Given the description of an element on the screen output the (x, y) to click on. 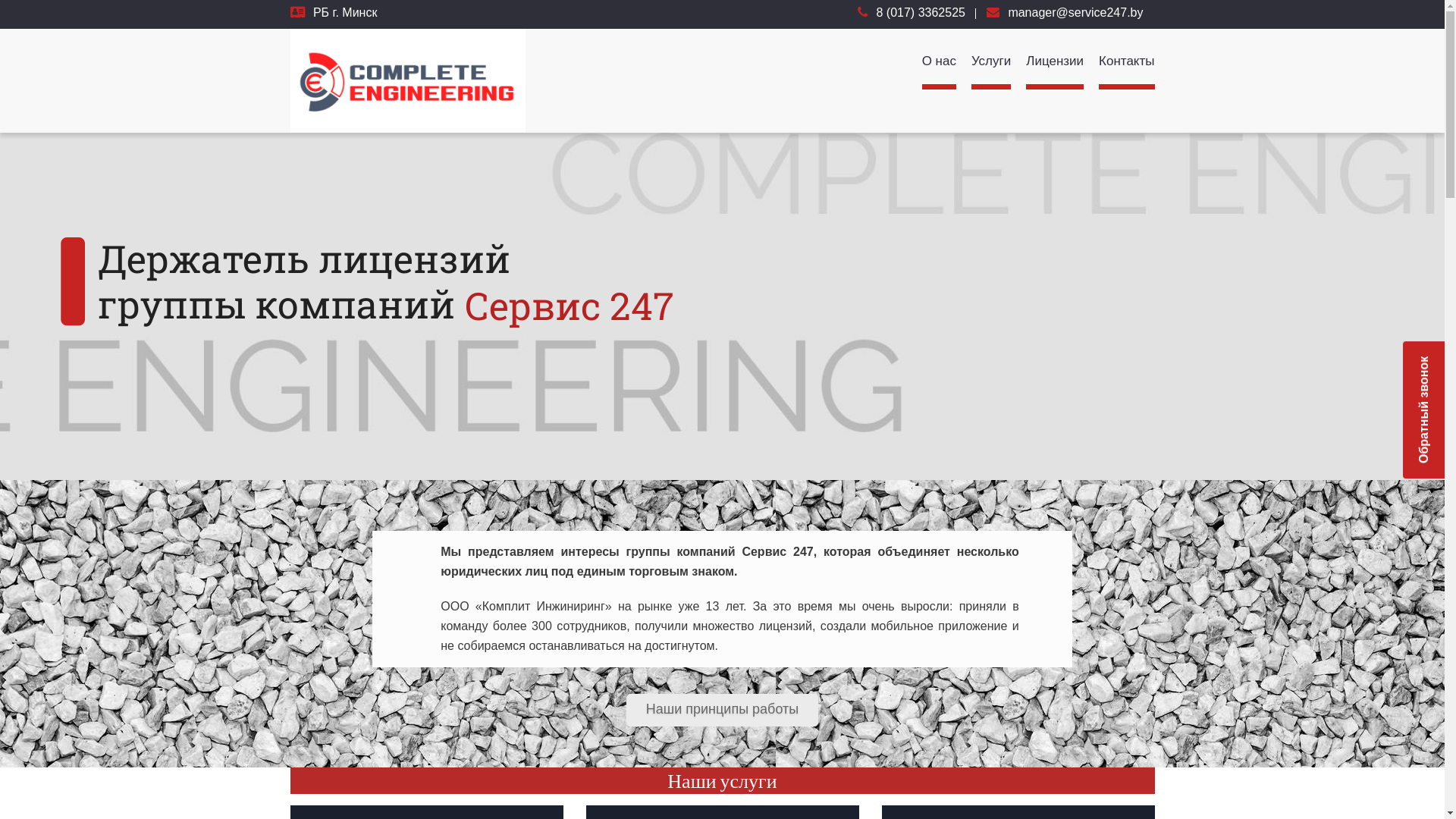
manager@service247.by Element type: text (1074, 12)
8 (017) 3362525 Element type: text (920, 12)
